Given the description of an element on the screen output the (x, y) to click on. 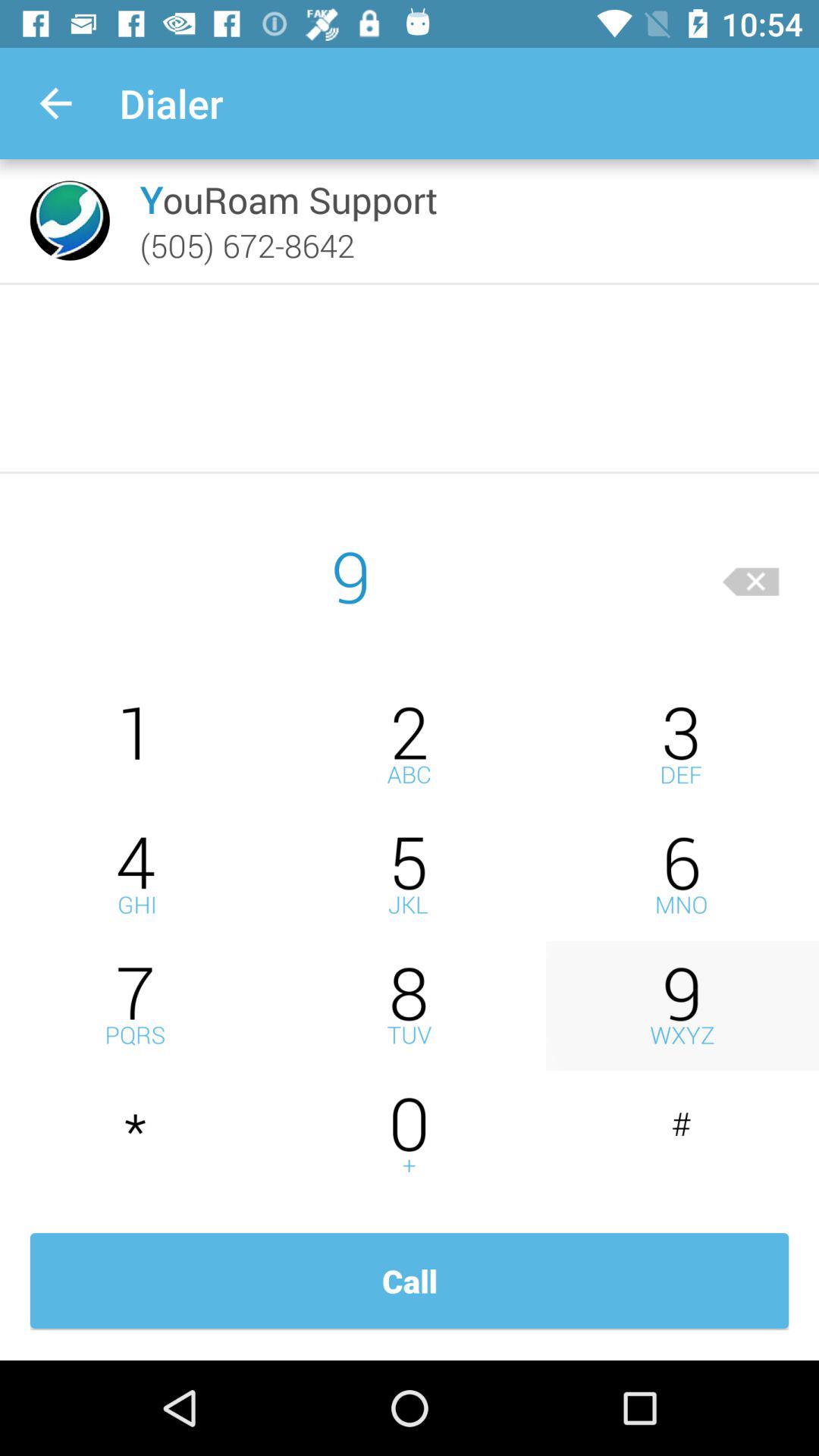
dial star (136, 1135)
